Given the description of an element on the screen output the (x, y) to click on. 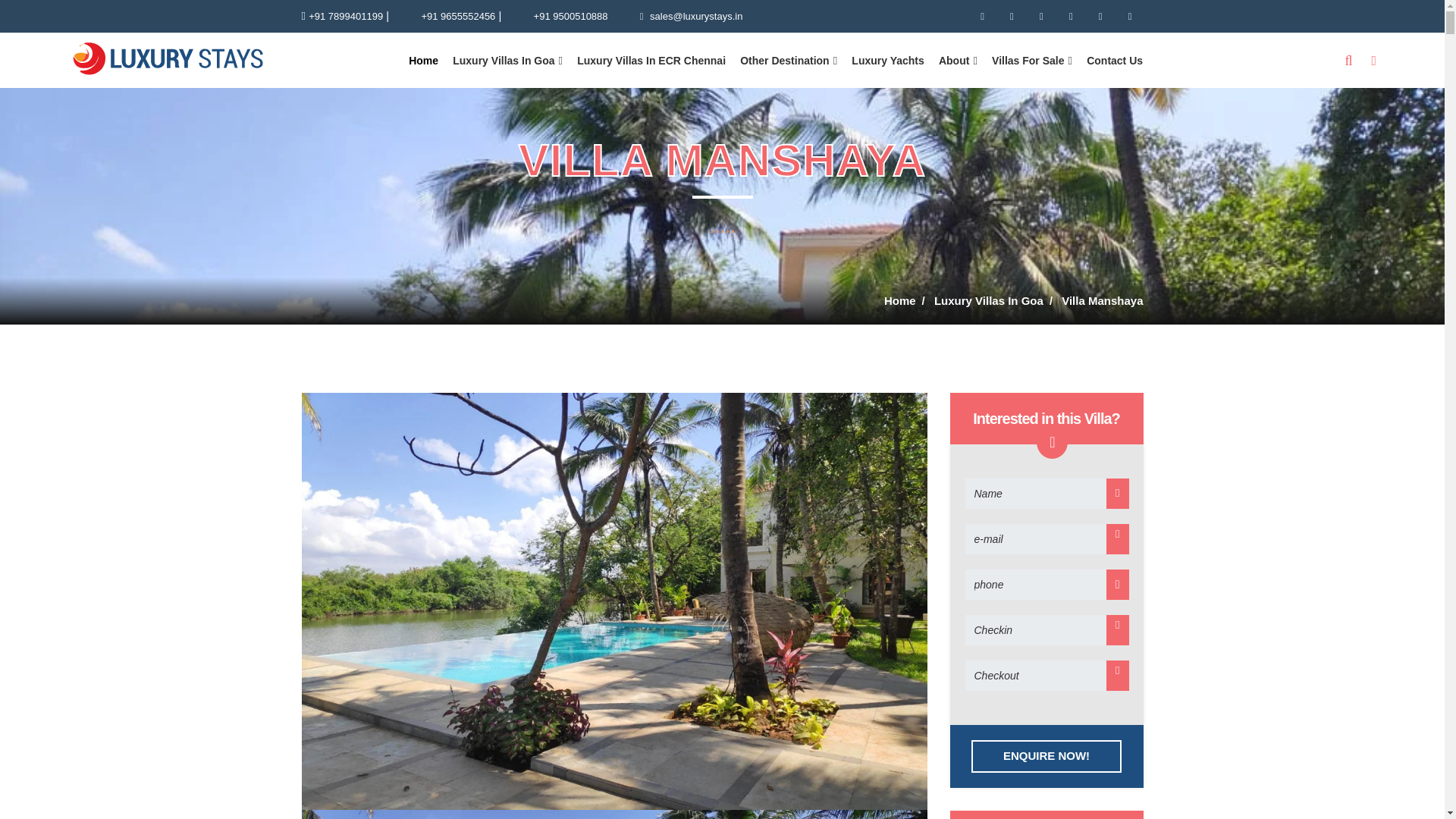
Home (423, 60)
Luxury Villas In Goa (507, 60)
